Given the description of an element on the screen output the (x, y) to click on. 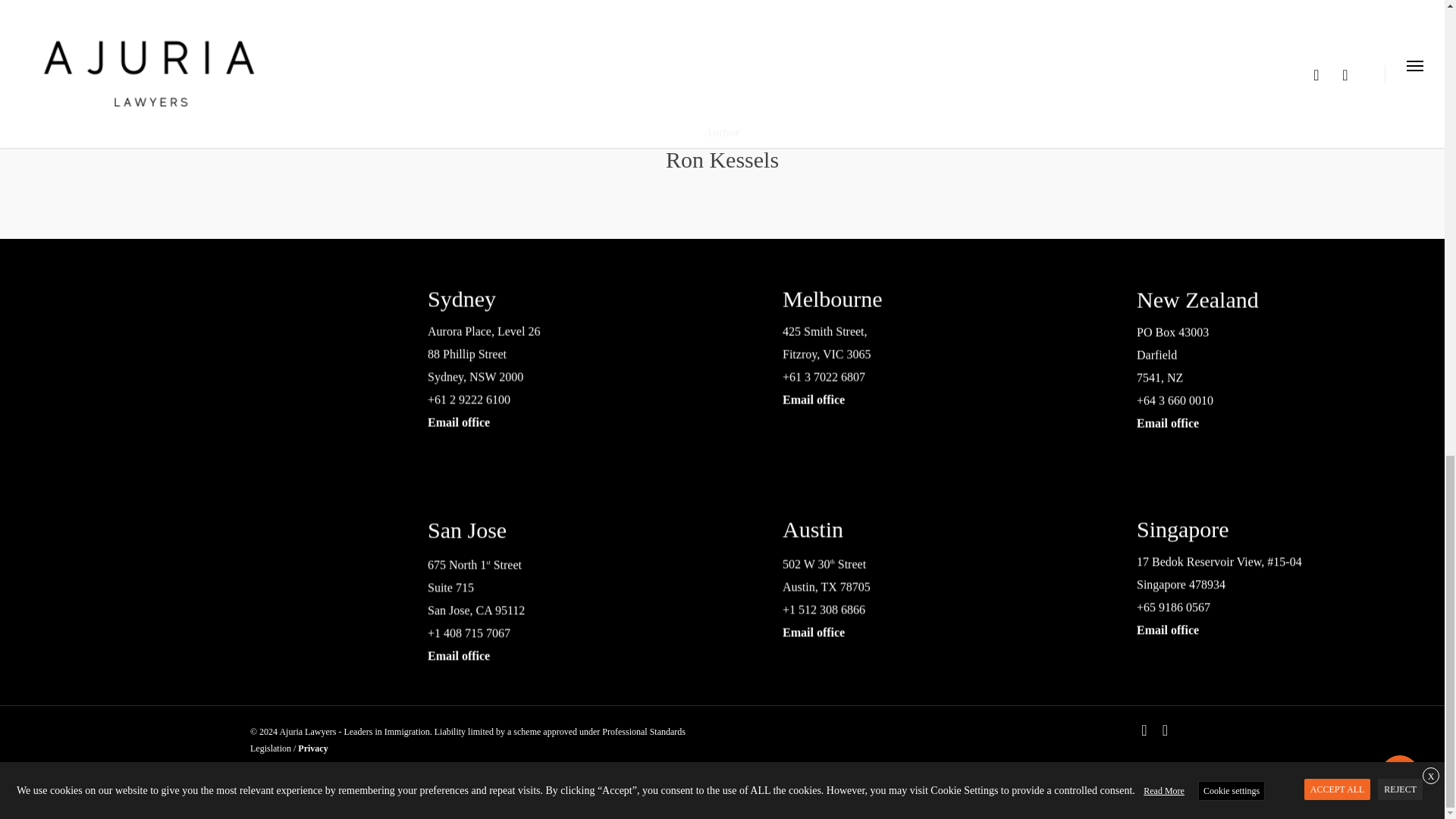
Email office (1006, 395)
Email office (651, 418)
Email office (672, 675)
Email office (1026, 651)
Email office (1381, 668)
Email office (1360, 415)
Privacy (312, 747)
